Given the description of an element on the screen output the (x, y) to click on. 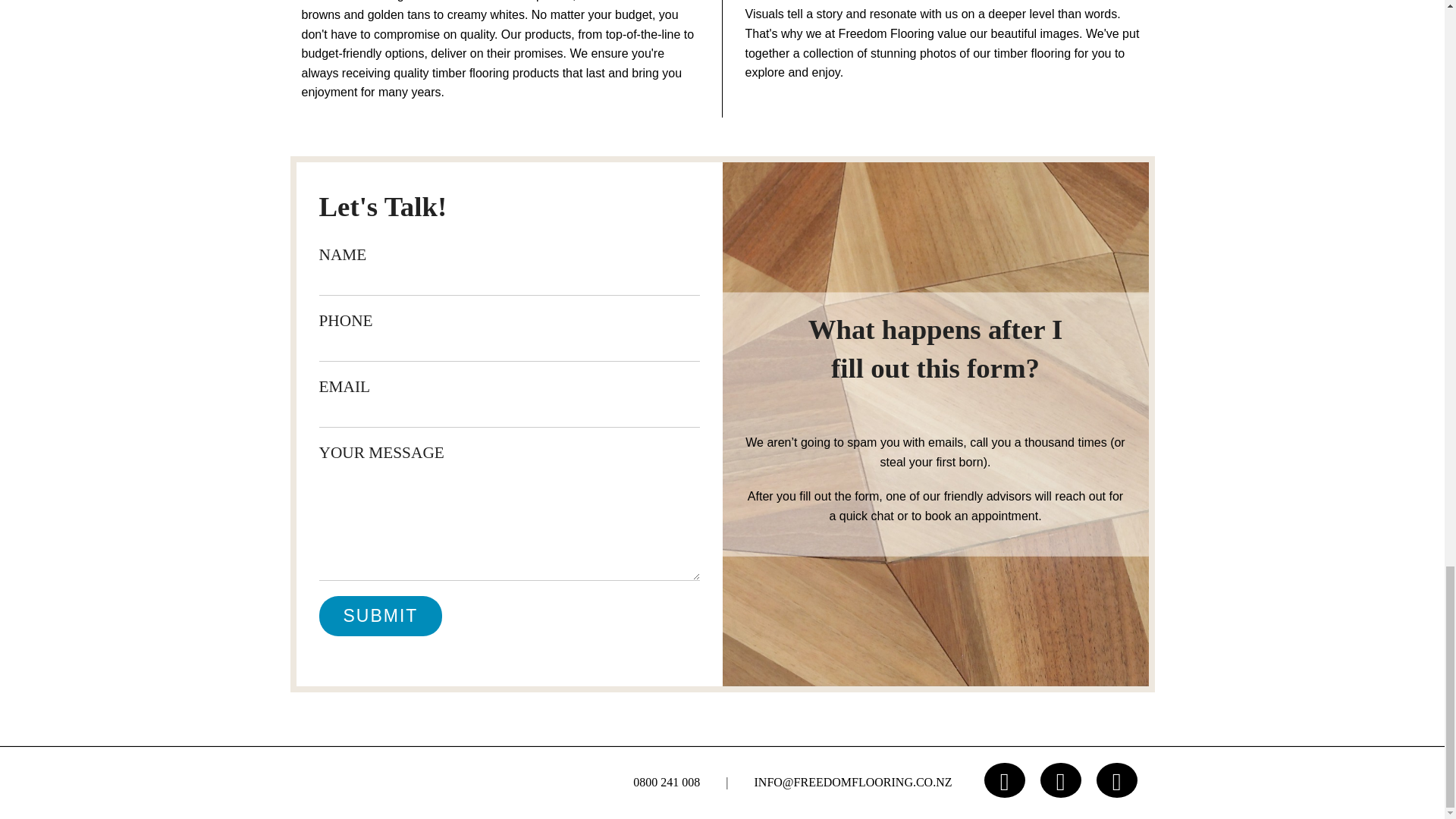
SUBMIT (380, 616)
0800 241 008 (666, 781)
